Given the description of an element on the screen output the (x, y) to click on. 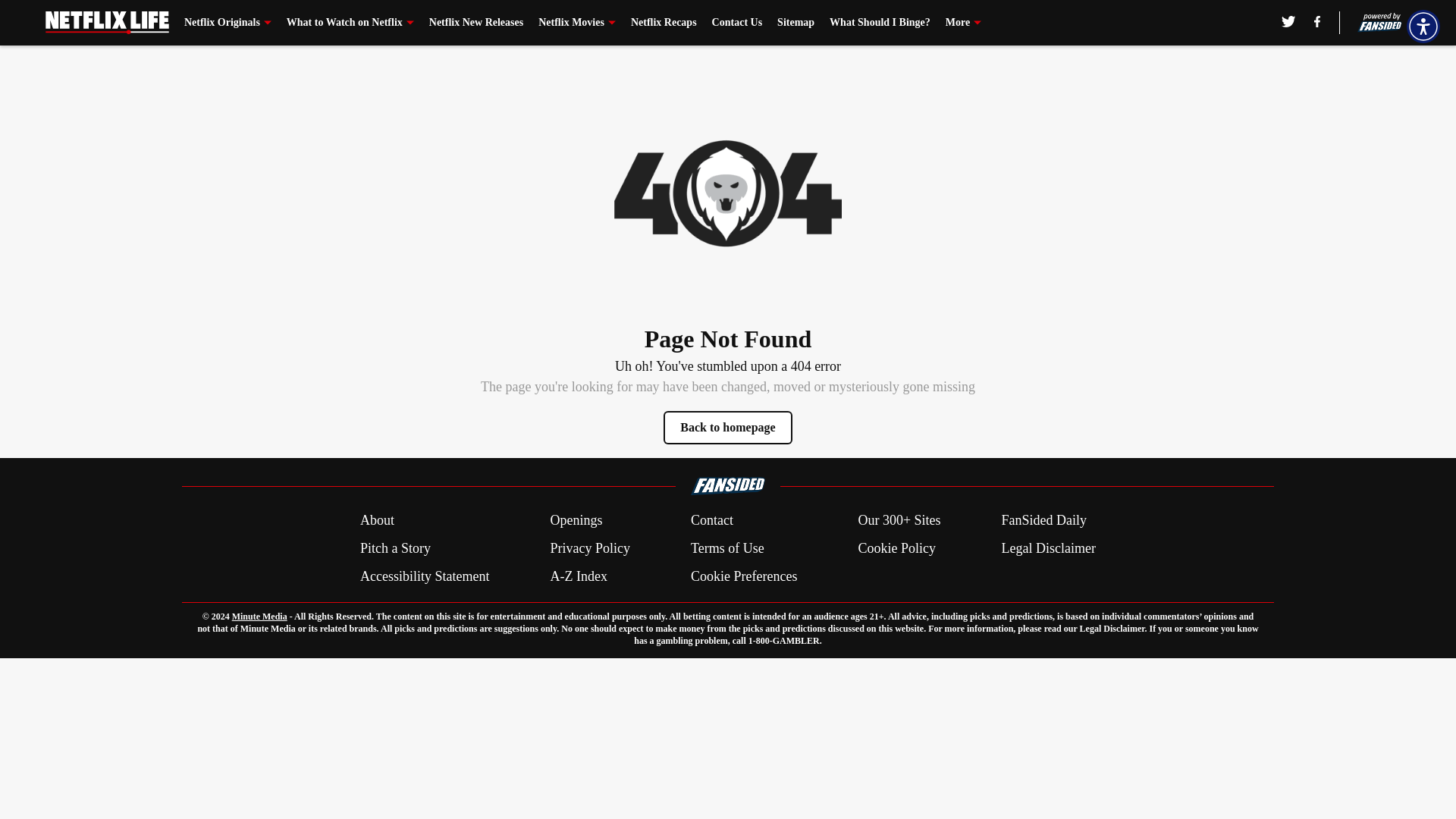
Netflix Originals (227, 22)
Netflix Movies (576, 22)
Netflix New Releases (475, 22)
What to Watch on Netflix (349, 22)
Error image (727, 193)
Accessibility Menu (1422, 26)
